Given the description of an element on the screen output the (x, y) to click on. 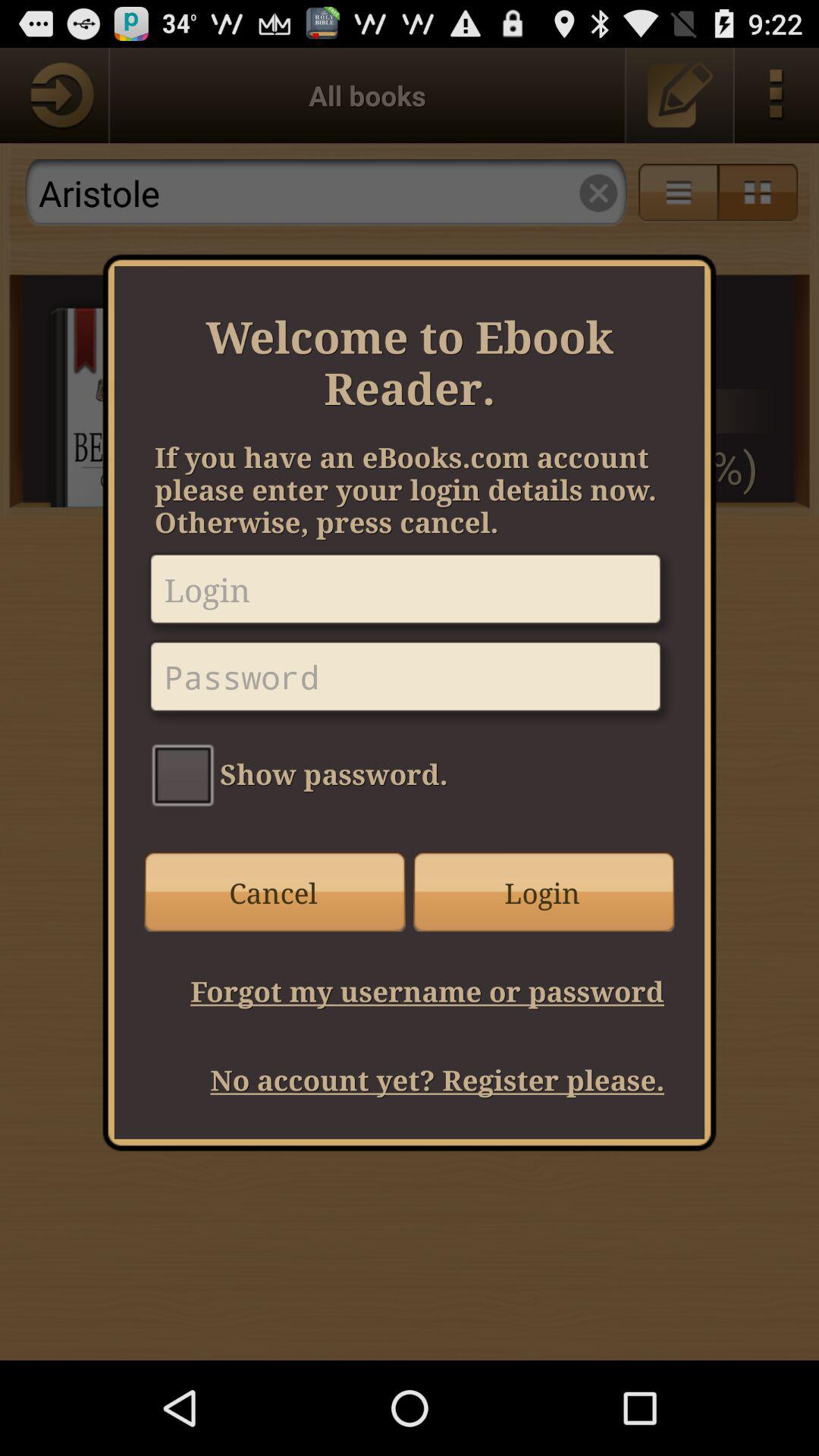
add username (409, 594)
